Given the description of an element on the screen output the (x, y) to click on. 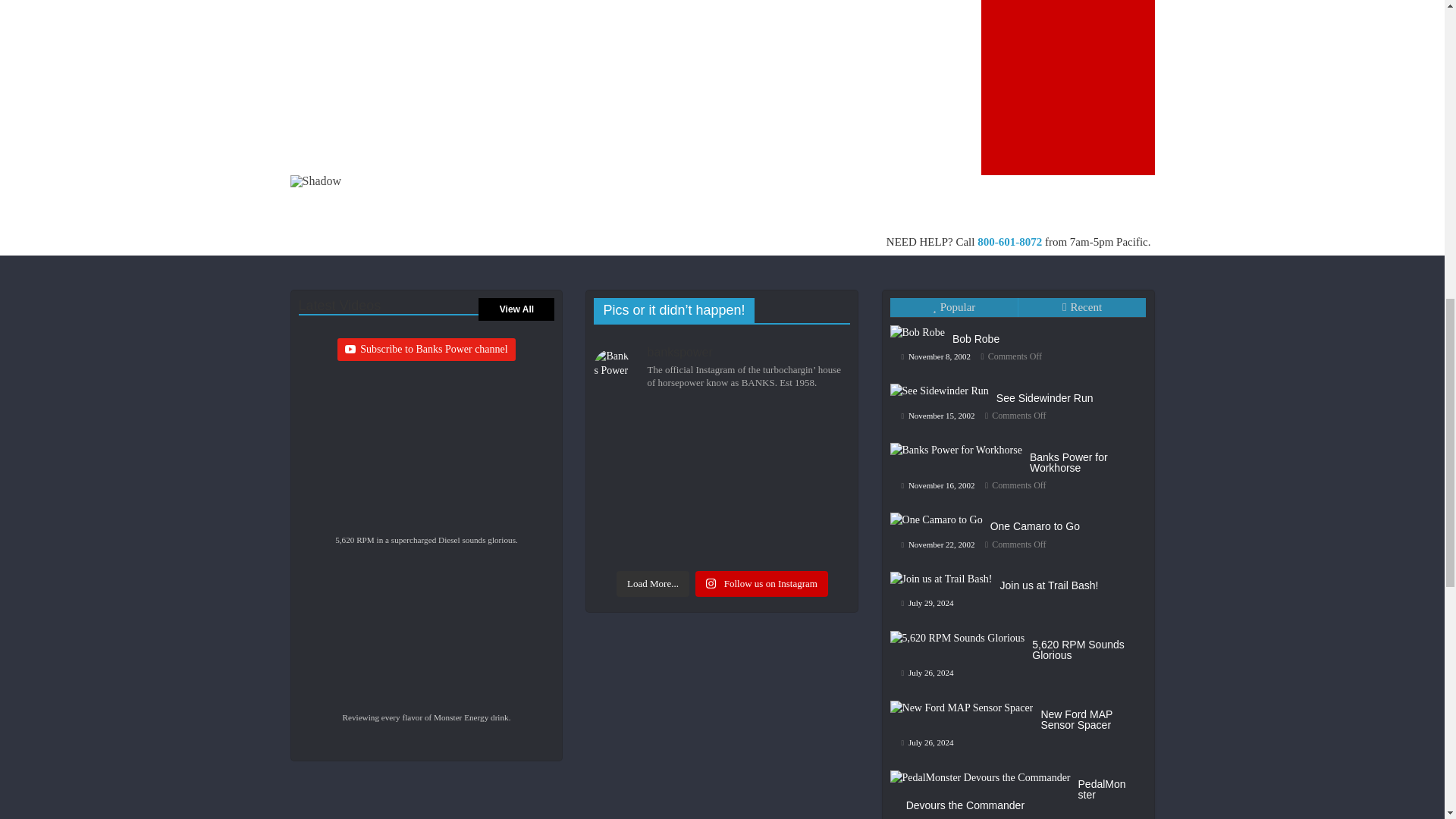
Bob Robe (920, 324)
12:00 am (936, 356)
Bob Robe (916, 332)
Bob Robe (975, 338)
